Given the description of an element on the screen output the (x, y) to click on. 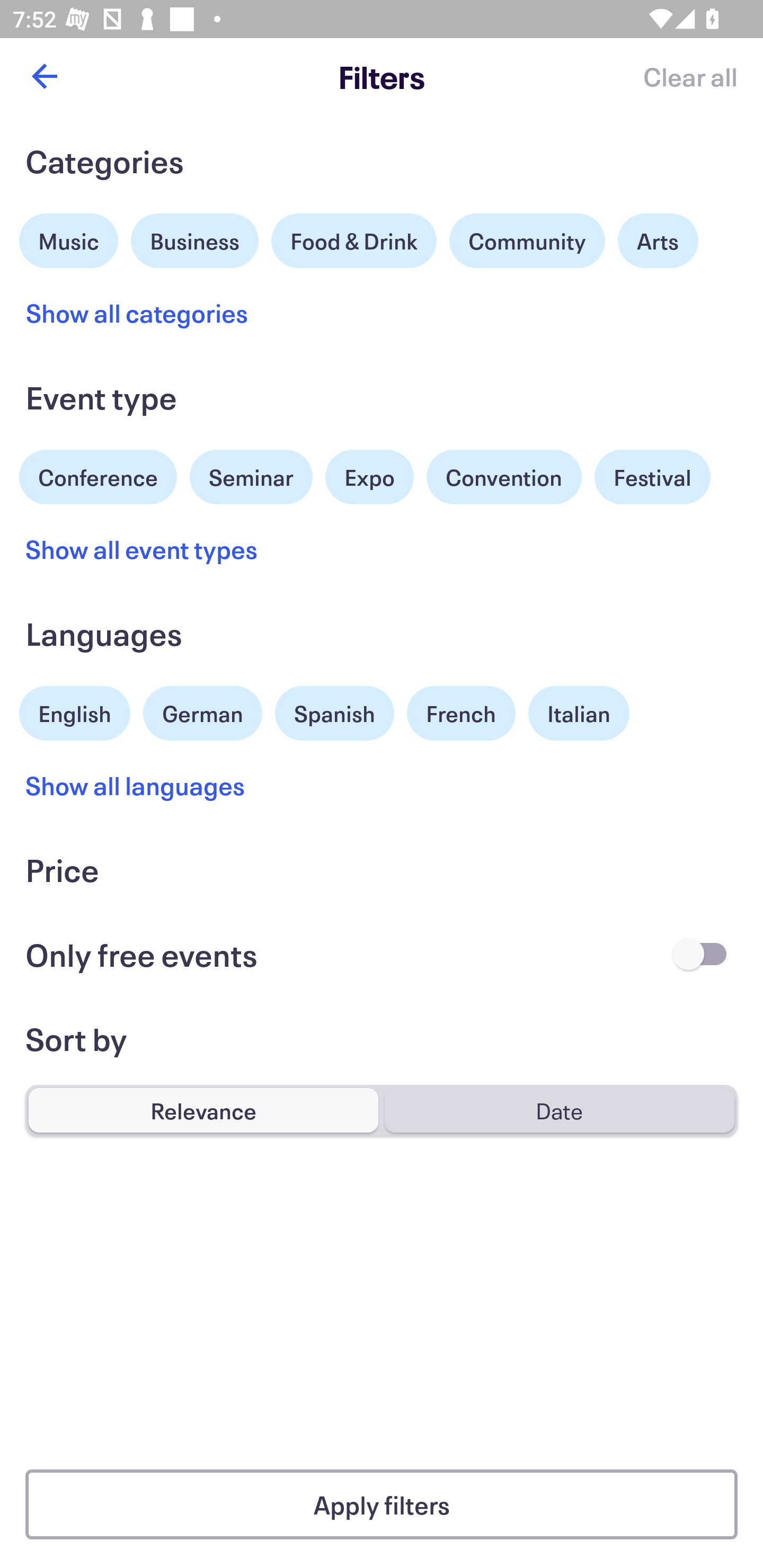
Back button (44, 75)
Clear all (690, 75)
Music (68, 238)
Business (194, 238)
Food & Drink (353, 240)
Community (527, 240)
Arts (658, 240)
Show all categories (136, 312)
Conference (98, 475)
Seminar (250, 477)
Expo (369, 477)
Convention (503, 477)
Festival (652, 477)
Show all event types (141, 548)
English (74, 710)
German (202, 710)
Spanish (334, 713)
French (460, 713)
Italian (578, 713)
Show all languages (135, 784)
Relevance (203, 1109)
Date (559, 1109)
Apply filters (381, 1504)
